Given the description of an element on the screen output the (x, y) to click on. 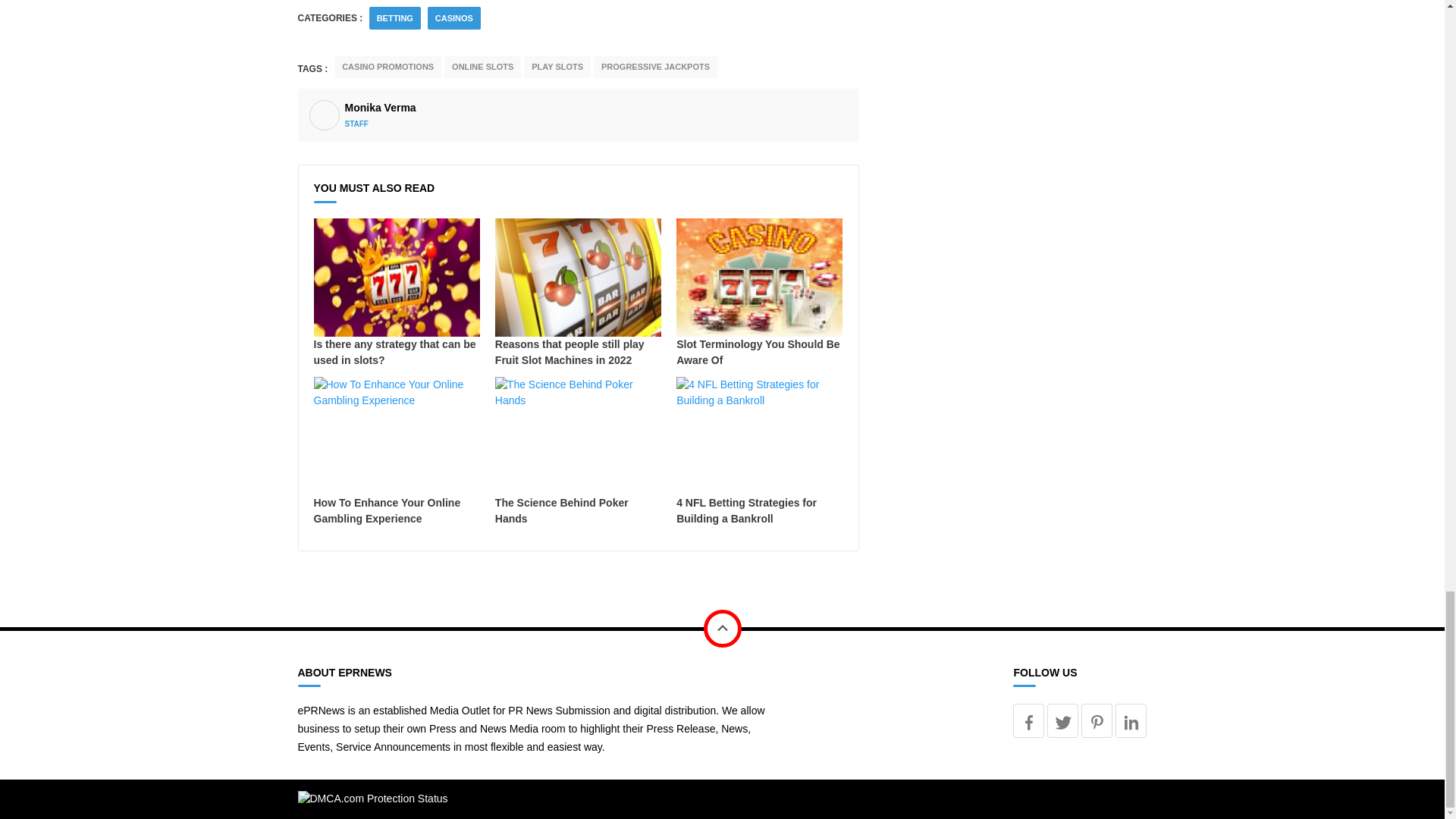
BETTING (395, 17)
Twitter (1062, 720)
Pinterest (1096, 720)
Linkedin (1130, 720)
CASINOS (454, 17)
Facebook (1028, 720)
DMCA.com Protection Status (371, 798)
